Given the description of an element on the screen output the (x, y) to click on. 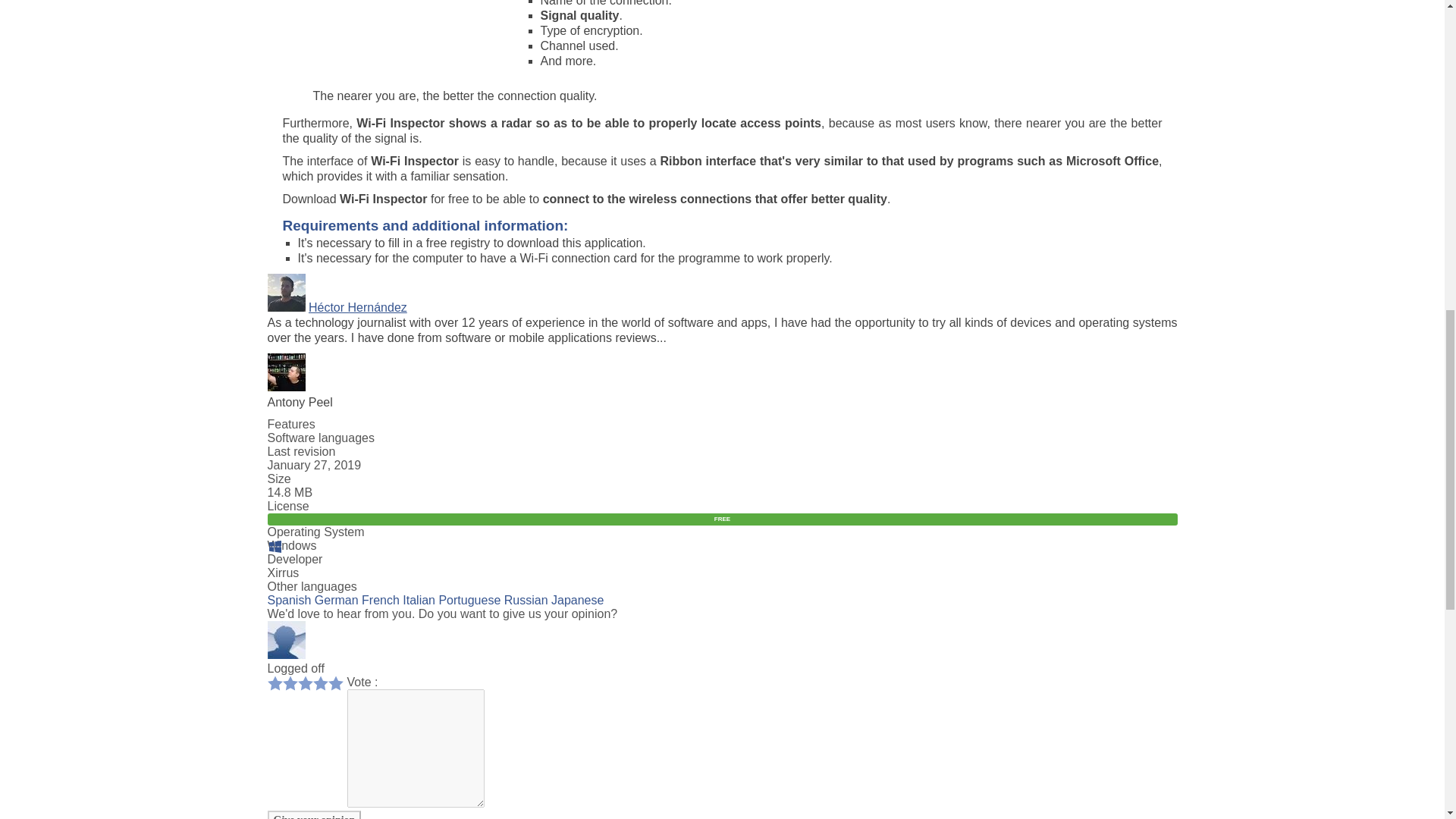
Give your opinion (313, 814)
3rd party ad content (395, 25)
German (336, 599)
Portuguese (469, 599)
Give your opinion (313, 814)
Japanese (577, 599)
Russian (525, 599)
Italian (419, 599)
French (379, 599)
Spanish (288, 599)
